Given the description of an element on the screen output the (x, y) to click on. 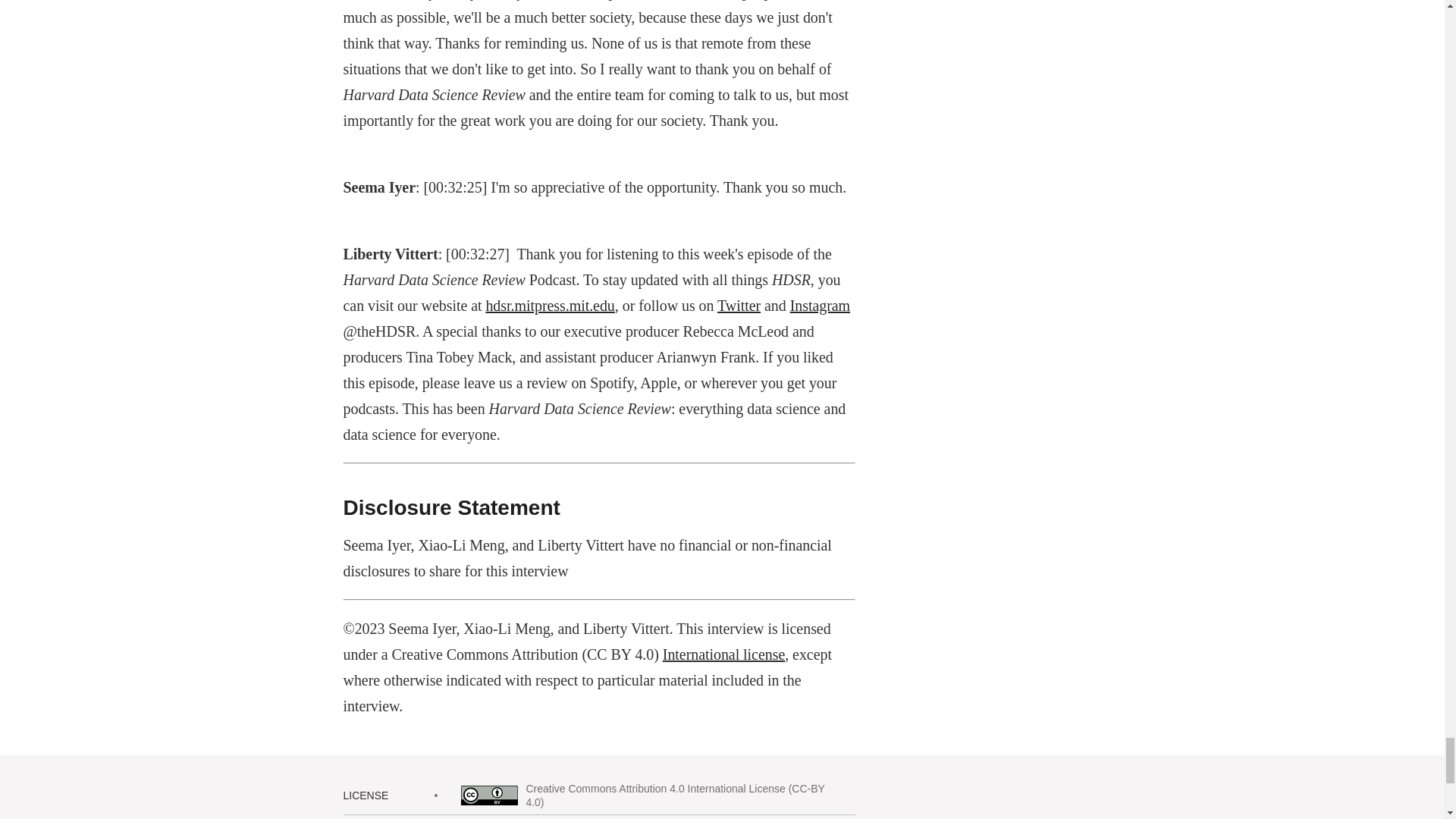
hdsr.mitpress.mit.edu (549, 305)
Instagram (820, 305)
Twitter (738, 305)
International license (723, 654)
